Given the description of an element on the screen output the (x, y) to click on. 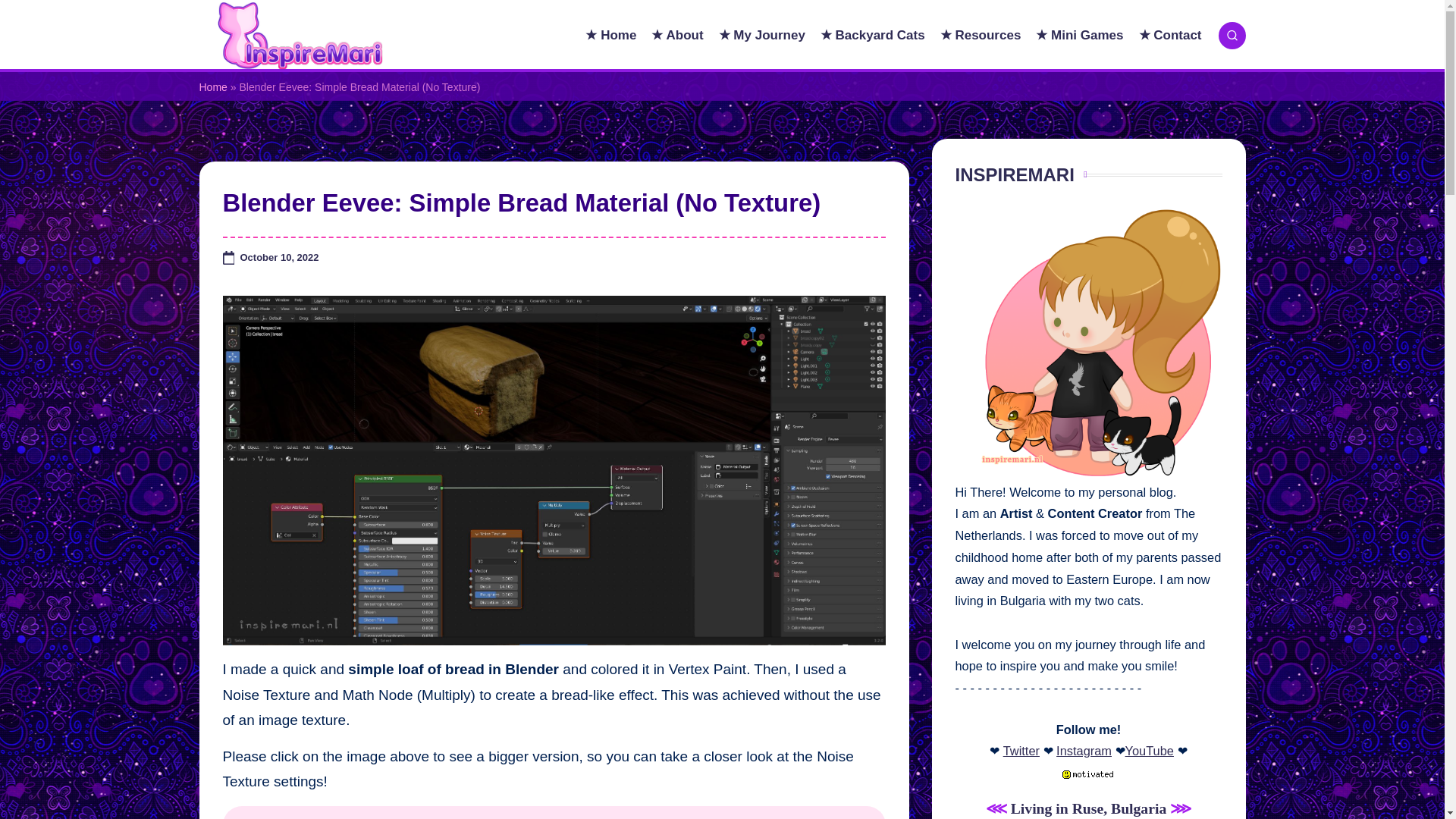
Follow my Journey! (1088, 808)
Click to read more about me (1089, 352)
YouTube (1149, 750)
Twitter (1021, 750)
Instagram (1084, 750)
Home (212, 87)
Living in Ruse, Bulgaria (1088, 808)
